Given the description of an element on the screen output the (x, y) to click on. 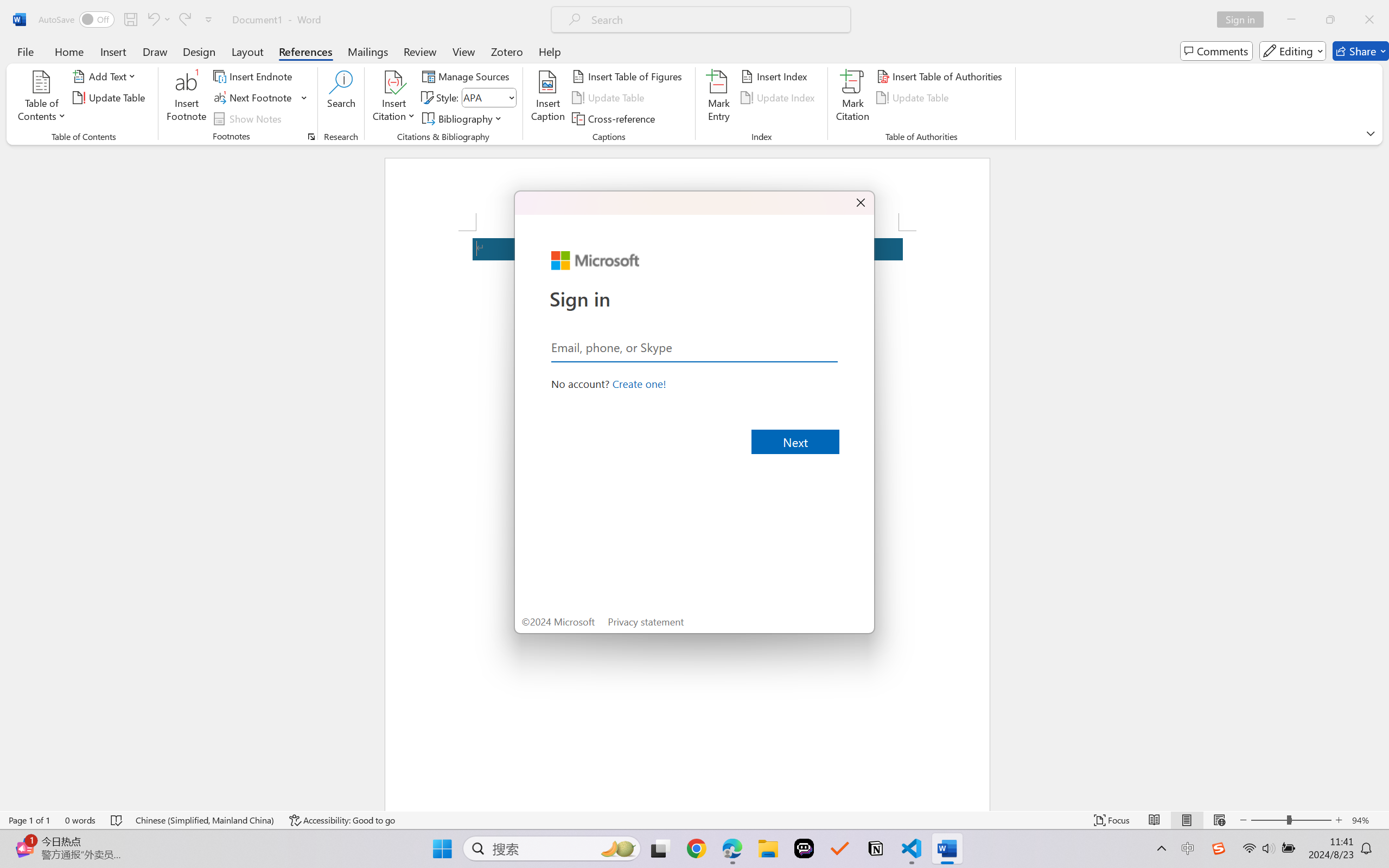
Update Index (778, 97)
Add Text (106, 75)
Insert Table of Authorities... (941, 75)
Editing (1292, 50)
Sign in (1244, 19)
Insert Citation (393, 97)
